Given the description of an element on the screen output the (x, y) to click on. 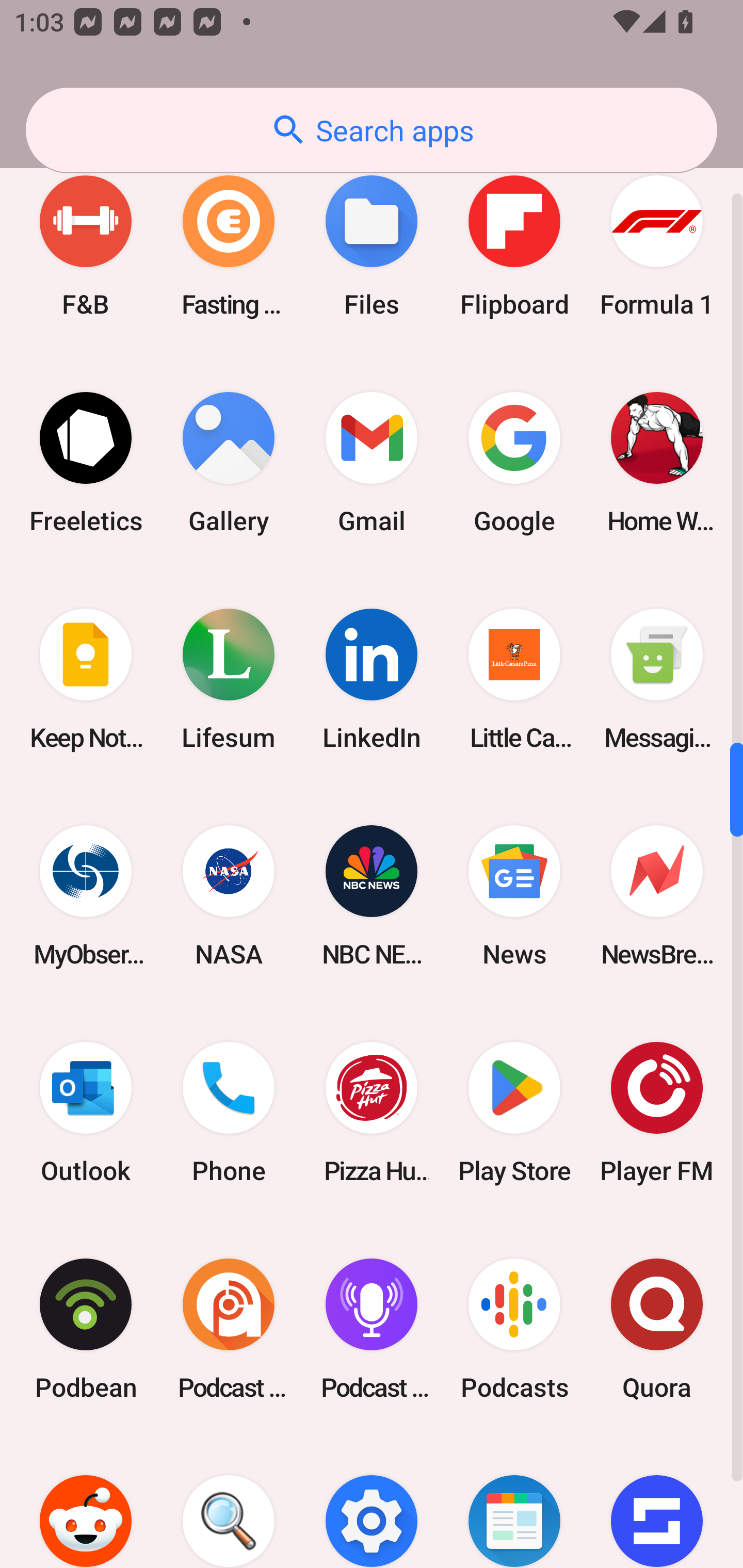
  Search apps (371, 130)
F&B (85, 245)
Fasting Coach (228, 245)
Files (371, 245)
Flipboard (514, 245)
Formula 1 (656, 245)
Freeletics (85, 462)
Gallery (228, 462)
Gmail (371, 462)
Google (514, 462)
Home Workout (656, 462)
Keep Notes (85, 678)
Lifesum (228, 678)
LinkedIn (371, 678)
Little Caesars Pizza (514, 678)
Messaging (656, 678)
MyObservatory (85, 895)
NASA (228, 895)
NBC NEWS (371, 895)
News (514, 895)
NewsBreak (656, 895)
Outlook (85, 1112)
Phone (228, 1112)
Pizza Hut HK & Macau (371, 1112)
Play Store (514, 1112)
Player FM (656, 1112)
Podbean (85, 1329)
Podcast Addict (228, 1329)
Podcast Player (371, 1329)
Podcasts (514, 1329)
Quora (656, 1329)
Reddit (85, 1502)
Search (228, 1502)
Settings (371, 1502)
SmartNews (514, 1502)
Sofascore (656, 1502)
